Given the description of an element on the screen output the (x, y) to click on. 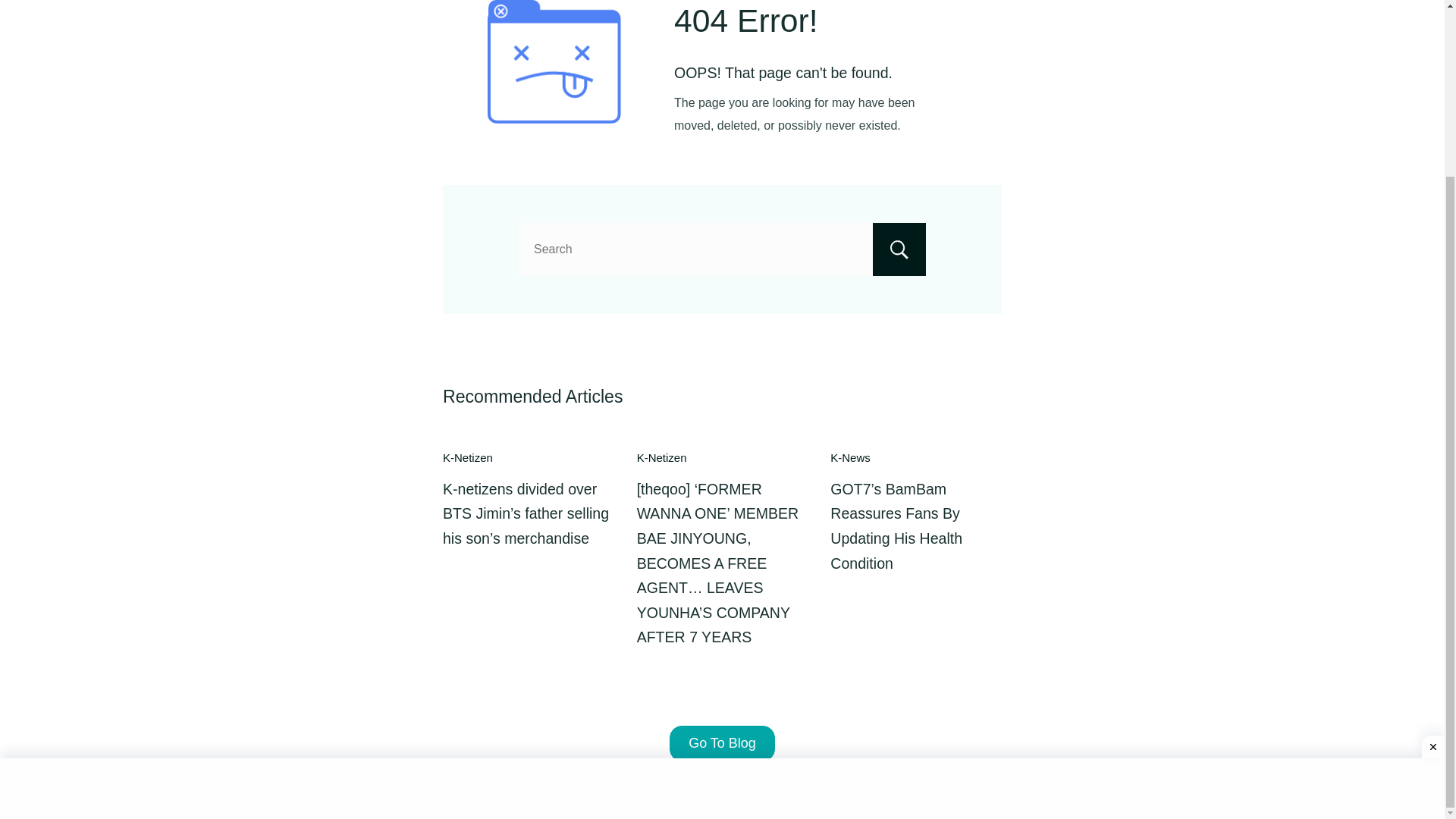
Search (899, 249)
Advertisement (722, 573)
Search (899, 249)
Search Input (722, 249)
